Given the description of an element on the screen output the (x, y) to click on. 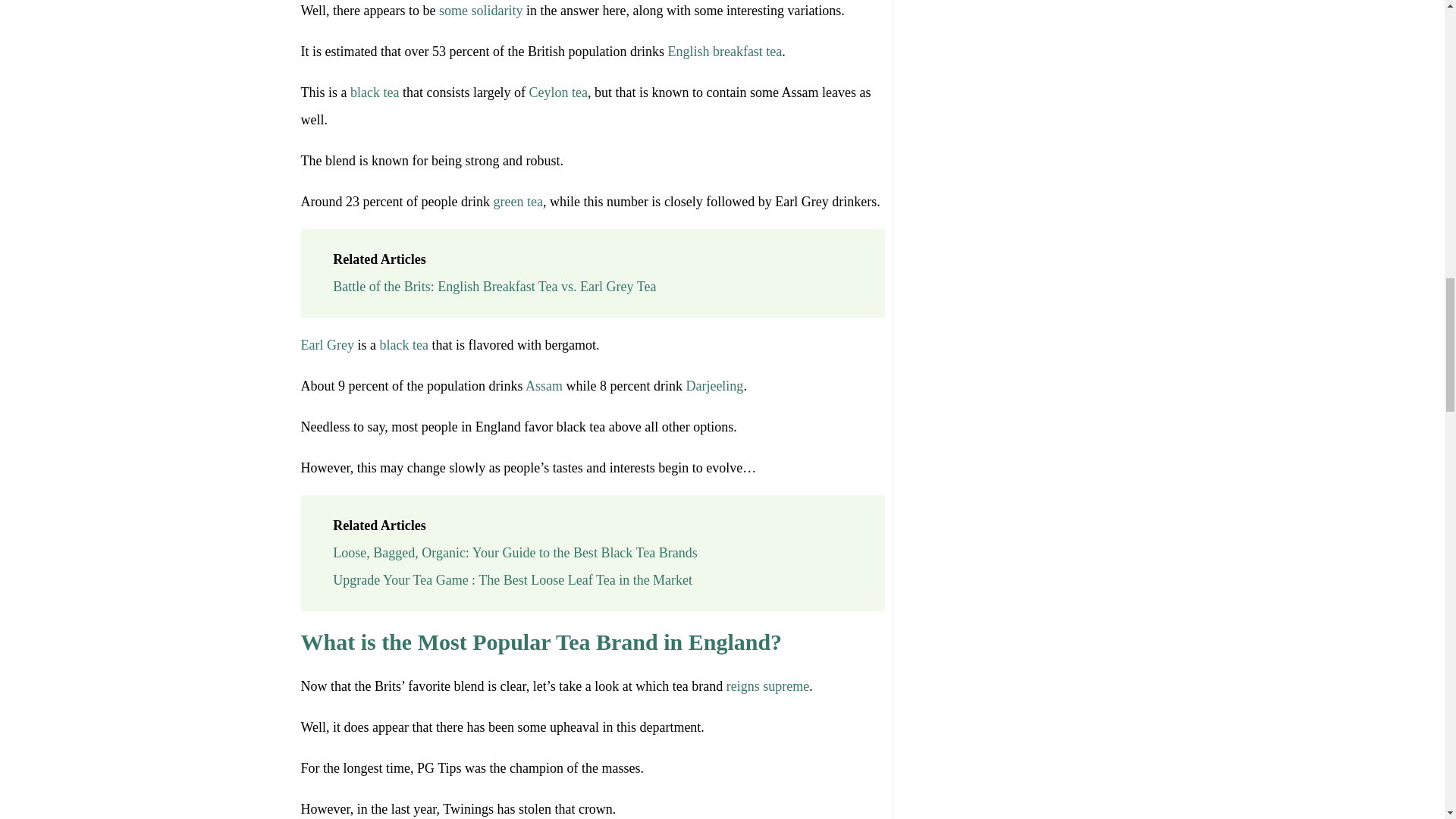
green tea (517, 201)
Earl Grey (326, 344)
some solidarity (480, 10)
English breakfast tea (723, 51)
Battle of the Brits: English Breakfast Tea vs. Earl Grey Tea (494, 286)
black tea (403, 344)
black tea (374, 92)
Ceylon tea (558, 92)
